Given the description of an element on the screen output the (x, y) to click on. 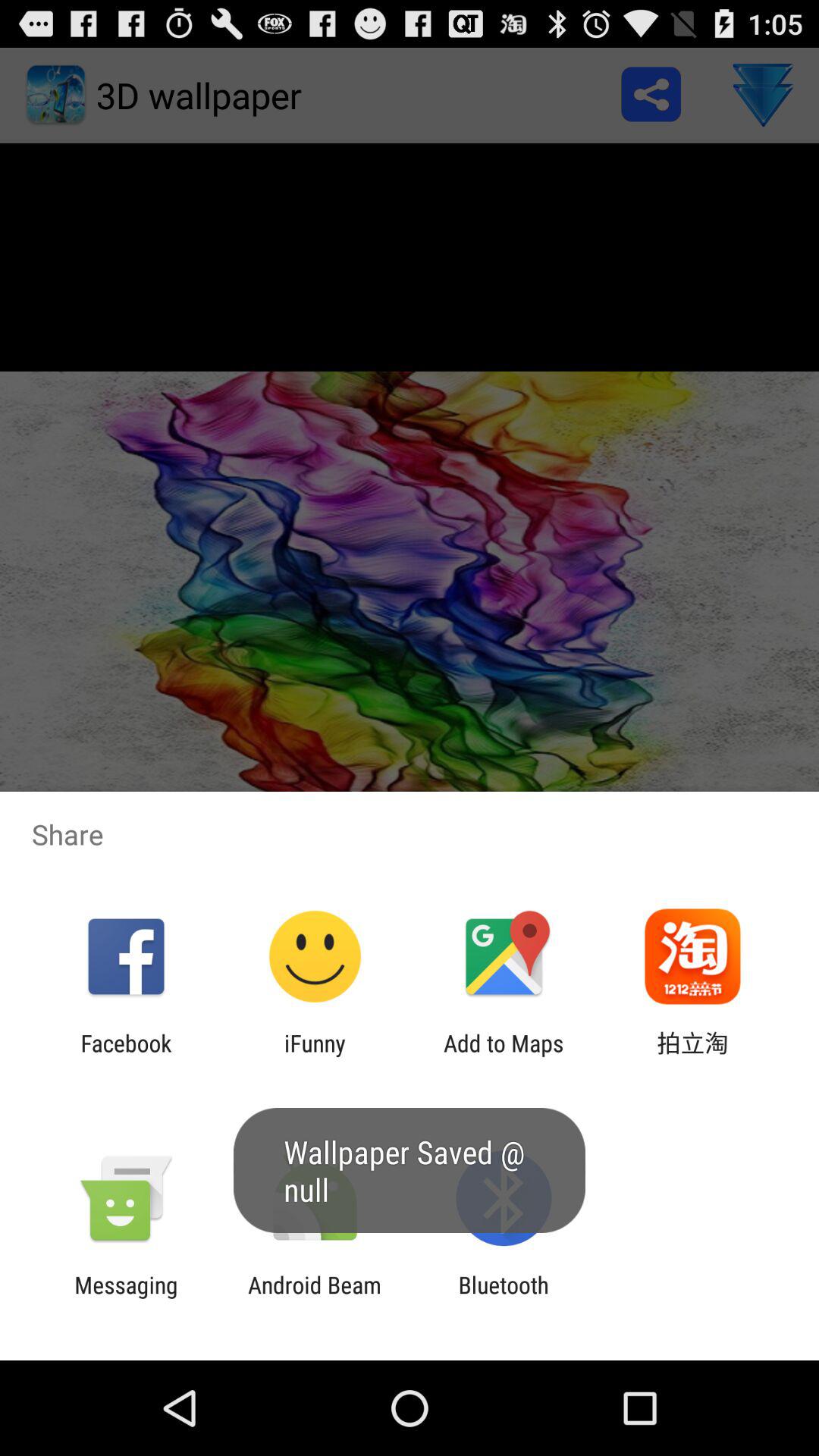
turn on the item next to ifunny item (503, 1056)
